Given the description of an element on the screen output the (x, y) to click on. 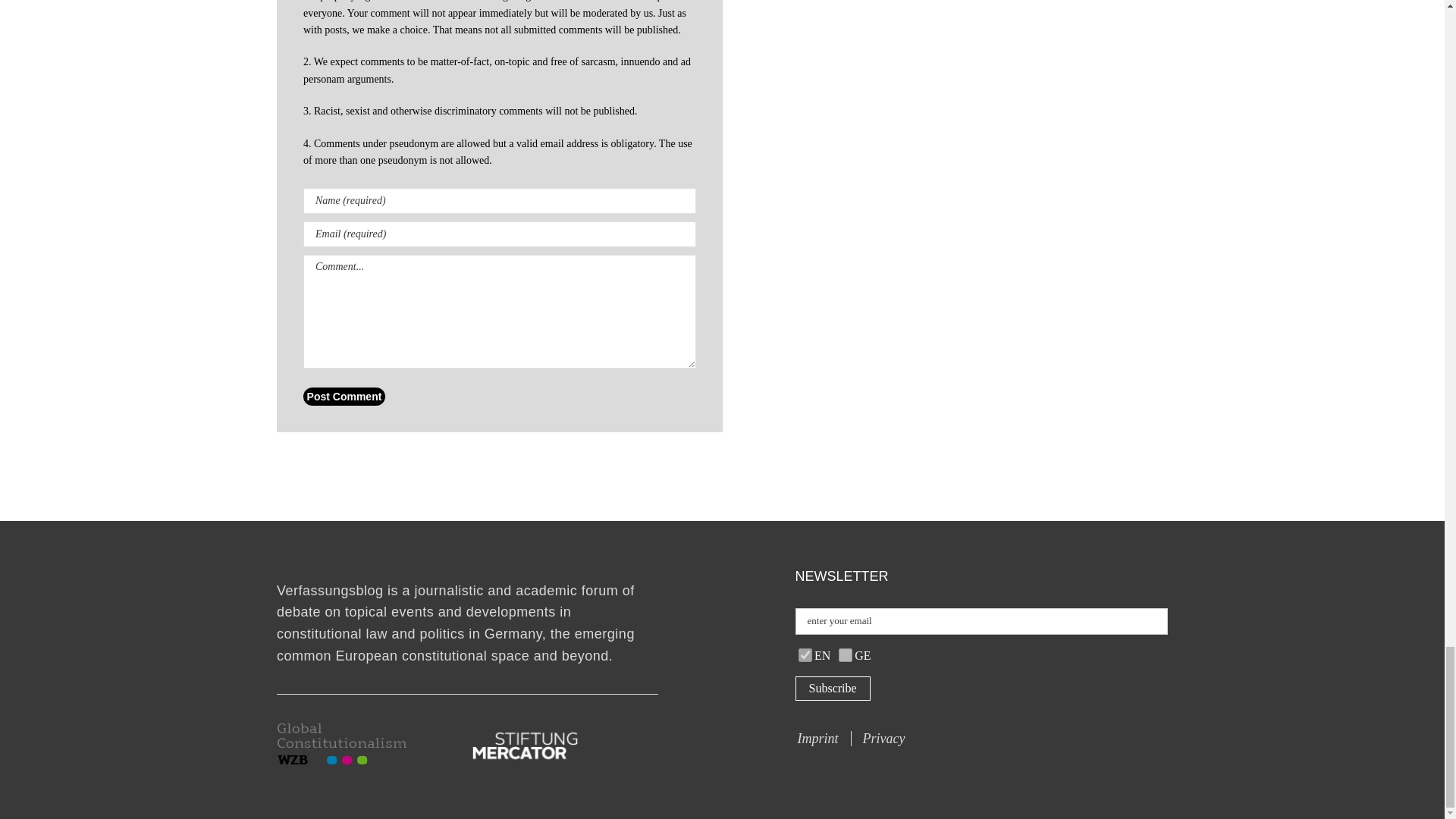
Post Comment (343, 396)
2 (804, 654)
Subscribe (831, 688)
1 (844, 654)
